Given the description of an element on the screen output the (x, y) to click on. 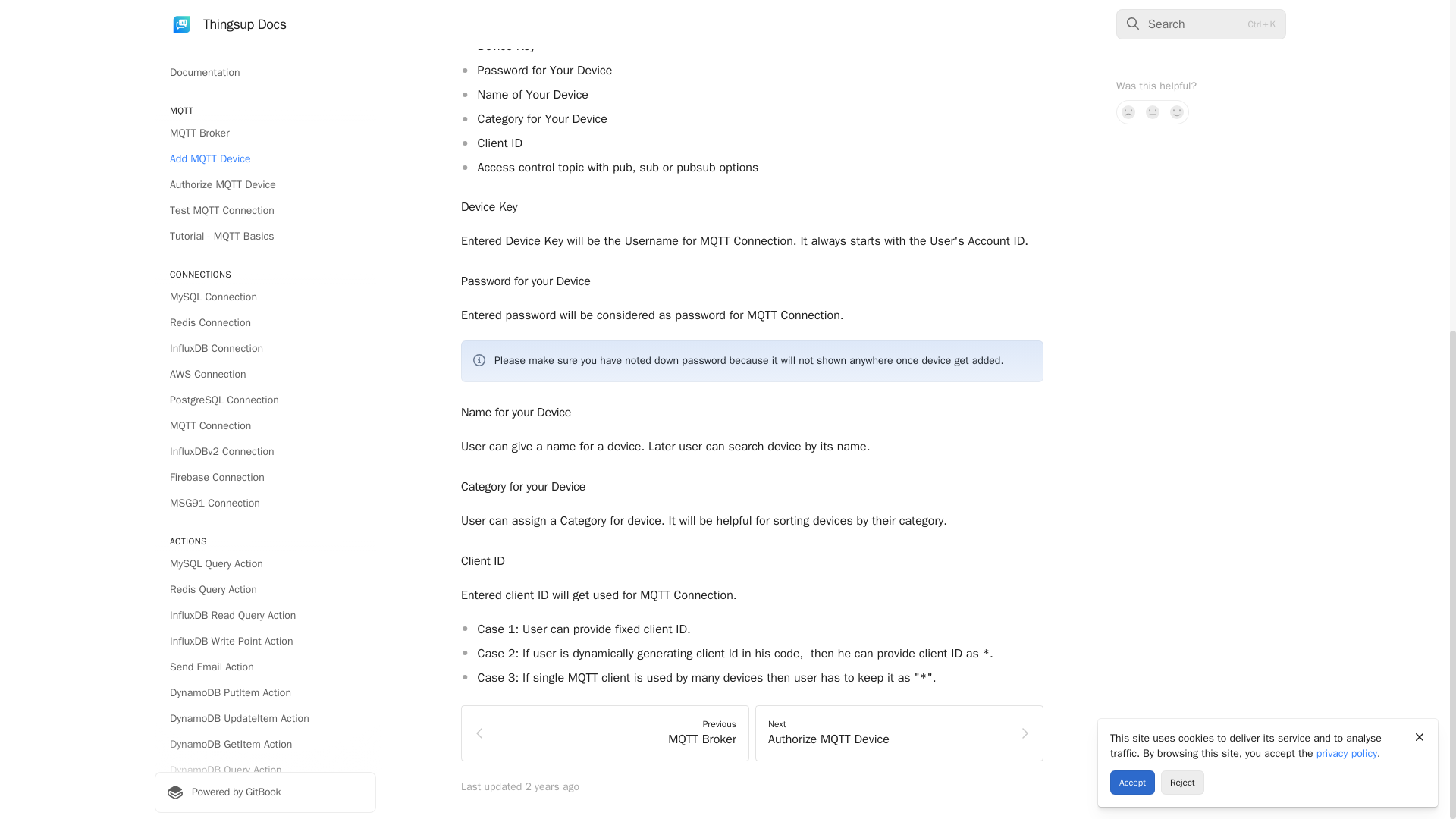
MySQL Query Action (264, 11)
AWS SQS Send Messsage Action (264, 474)
DynamoDB Scan Action (264, 242)
DynamoDB GetItem Action (264, 191)
InfluxDBv2 Read Query Action (264, 319)
ProcessFunction Action (264, 551)
DynamoDB Query Action (264, 216)
Send Email Action (264, 113)
Publish MQTT Message Action (264, 500)
Redis Query Action (264, 36)
MQTT CommandResponse Action (264, 526)
Firebase Messaging Action (264, 422)
Close (1419, 183)
DynamoDB PutItem Action (264, 139)
InfluxDB Write Point Action (264, 87)
